Given the description of an element on the screen output the (x, y) to click on. 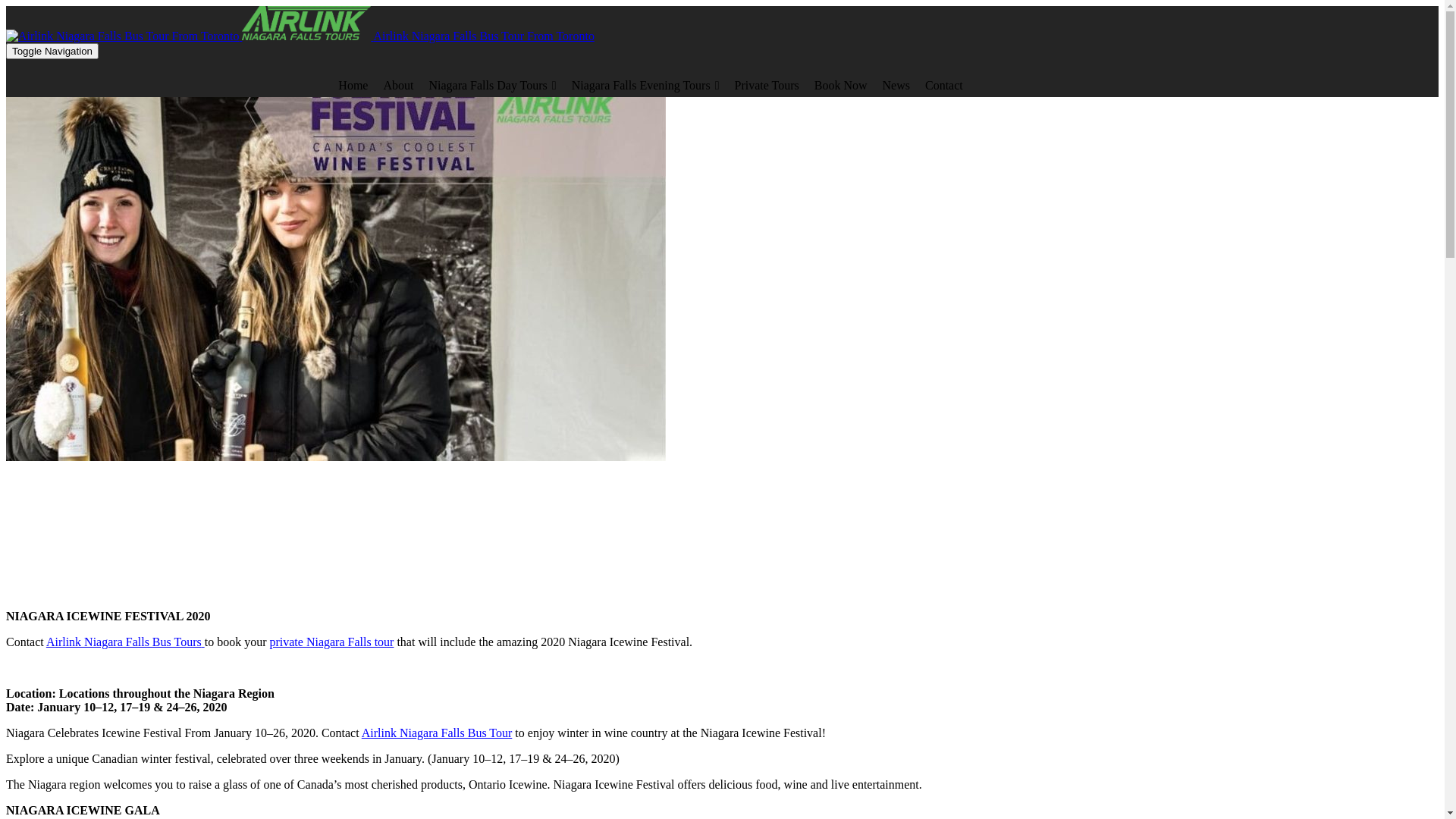
Airlink Niagara Falls Bus Tour Element type: text (436, 732)
Book Now Element type: text (840, 85)
About Element type: text (397, 85)
Airlink Niagara Falls Bus Tours Element type: text (125, 641)
Niagara Falls Evening Tours Element type: text (645, 85)
Contact Element type: text (943, 85)
News Element type: text (896, 85)
Home Element type: text (352, 85)
Toggle Navigation Element type: text (52, 51)
private Niagara Falls tour Element type: text (331, 641)
Niagara Falls Day Tours Element type: text (491, 85)
Private Tours Element type: text (766, 85)
Airlink Niagara Falls Bus Tour From Toronto Element type: text (300, 35)
